Given the description of an element on the screen output the (x, y) to click on. 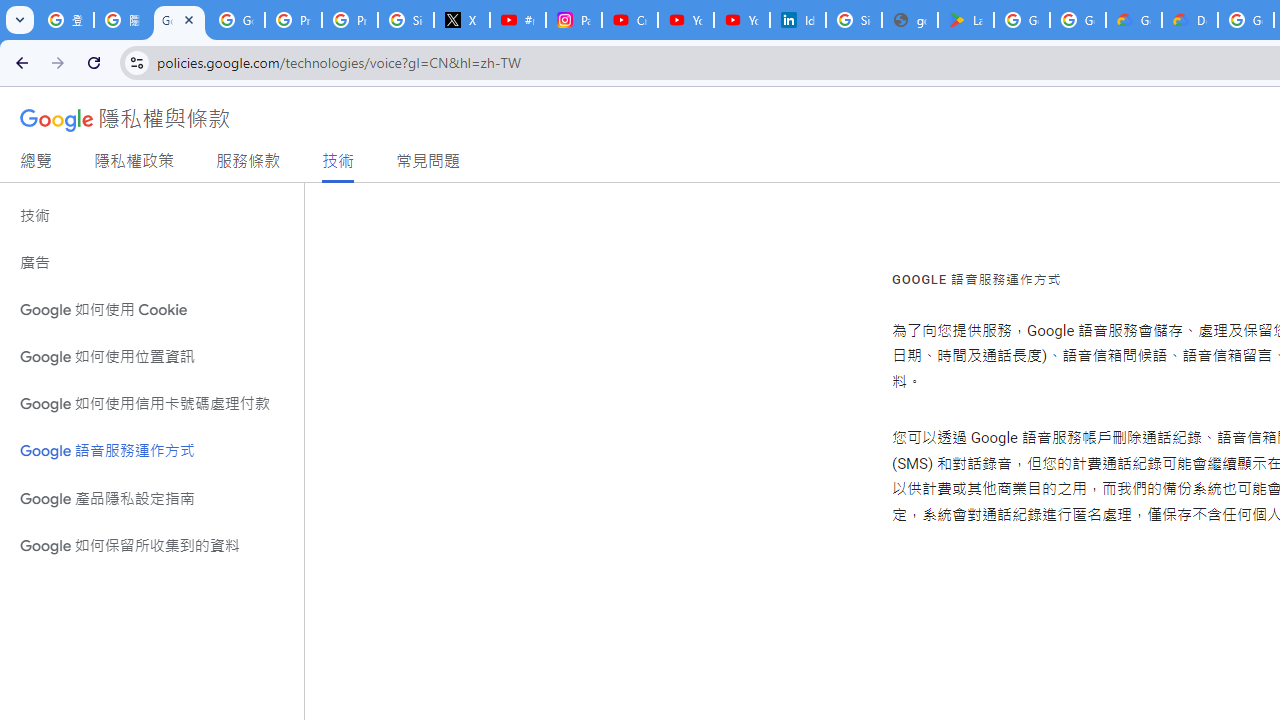
Government | Google Cloud (1133, 20)
Last Shelter: Survival - Apps on Google Play (966, 20)
YouTube Culture & Trends - YouTube Top 10, 2021 (742, 20)
Privacy Help Center - Policies Help (349, 20)
